Given the description of an element on the screen output the (x, y) to click on. 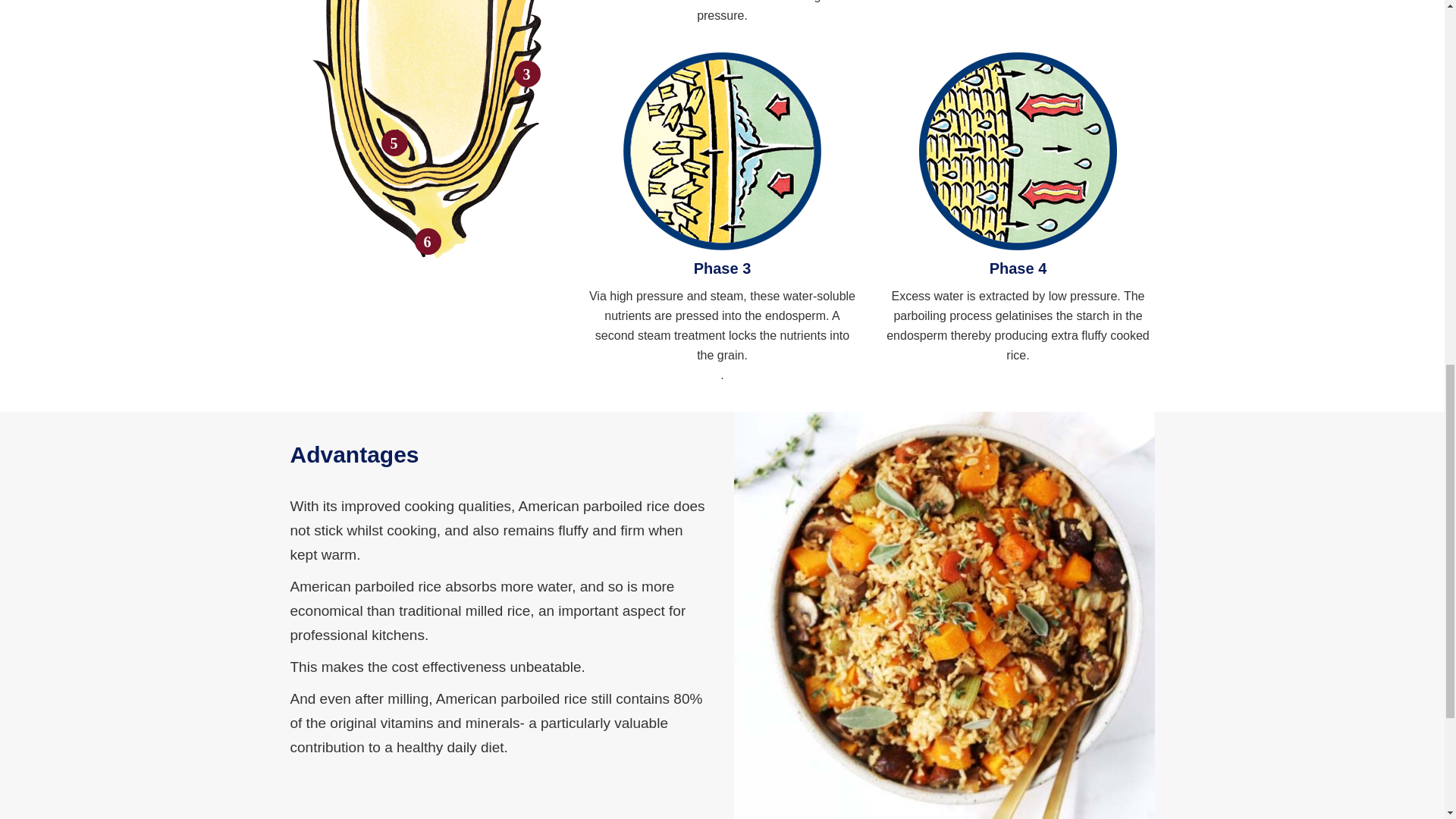
Page 23 (1017, 325)
Page 23 (722, 325)
